Given the description of an element on the screen output the (x, y) to click on. 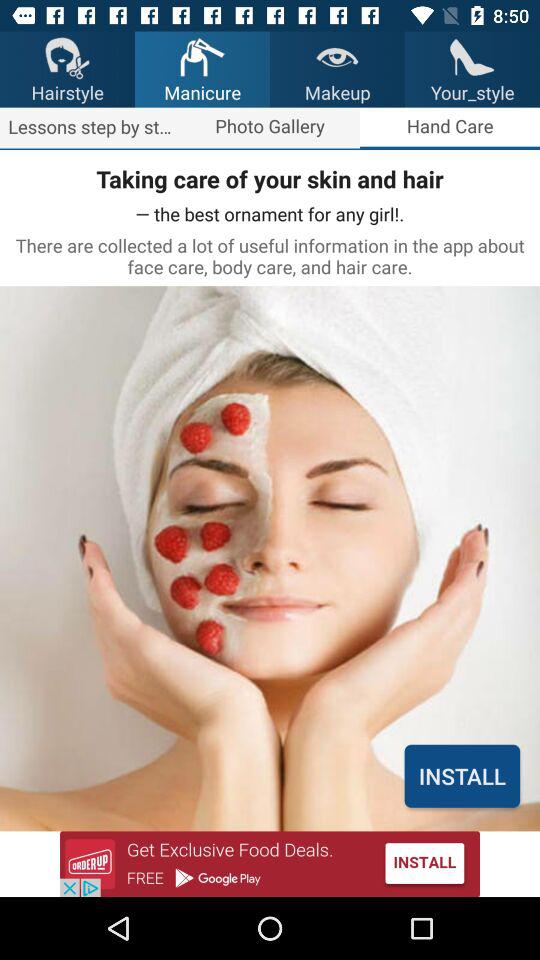
apps install (270, 864)
